Given the description of an element on the screen output the (x, y) to click on. 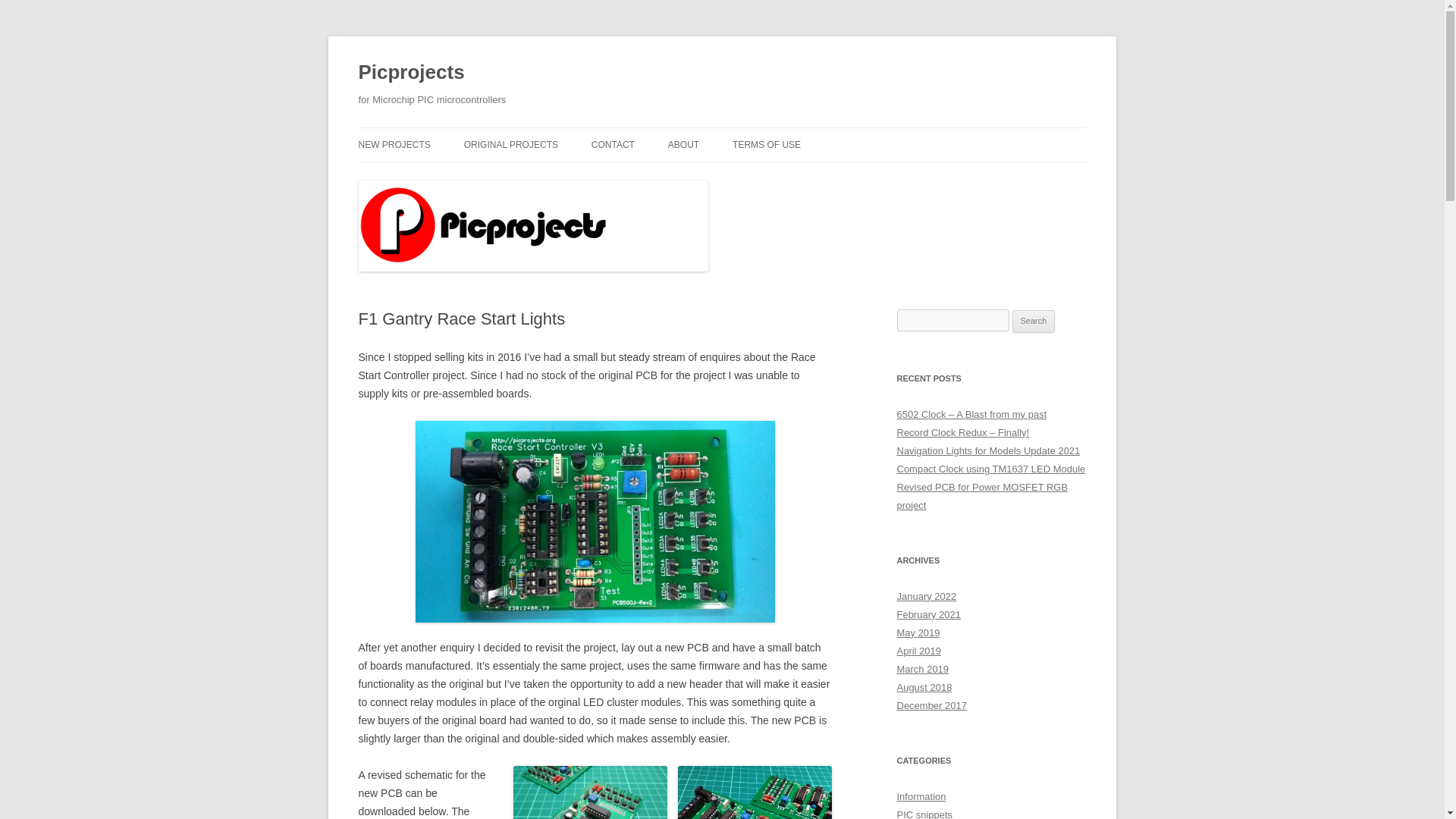
ABOUT (683, 144)
May 2019 (917, 632)
Picprojects (411, 72)
February 2021 (927, 614)
Search (1033, 321)
TERMS OF USE (766, 144)
Picprojects (411, 72)
ORIGINAL PROJECTS (510, 144)
Search (1033, 321)
Compact Clock using TM1637 LED Module (990, 469)
August 2018 (924, 686)
NEW PROJECTS (393, 144)
April 2019 (918, 650)
CONTACT (612, 144)
